Given the description of an element on the screen output the (x, y) to click on. 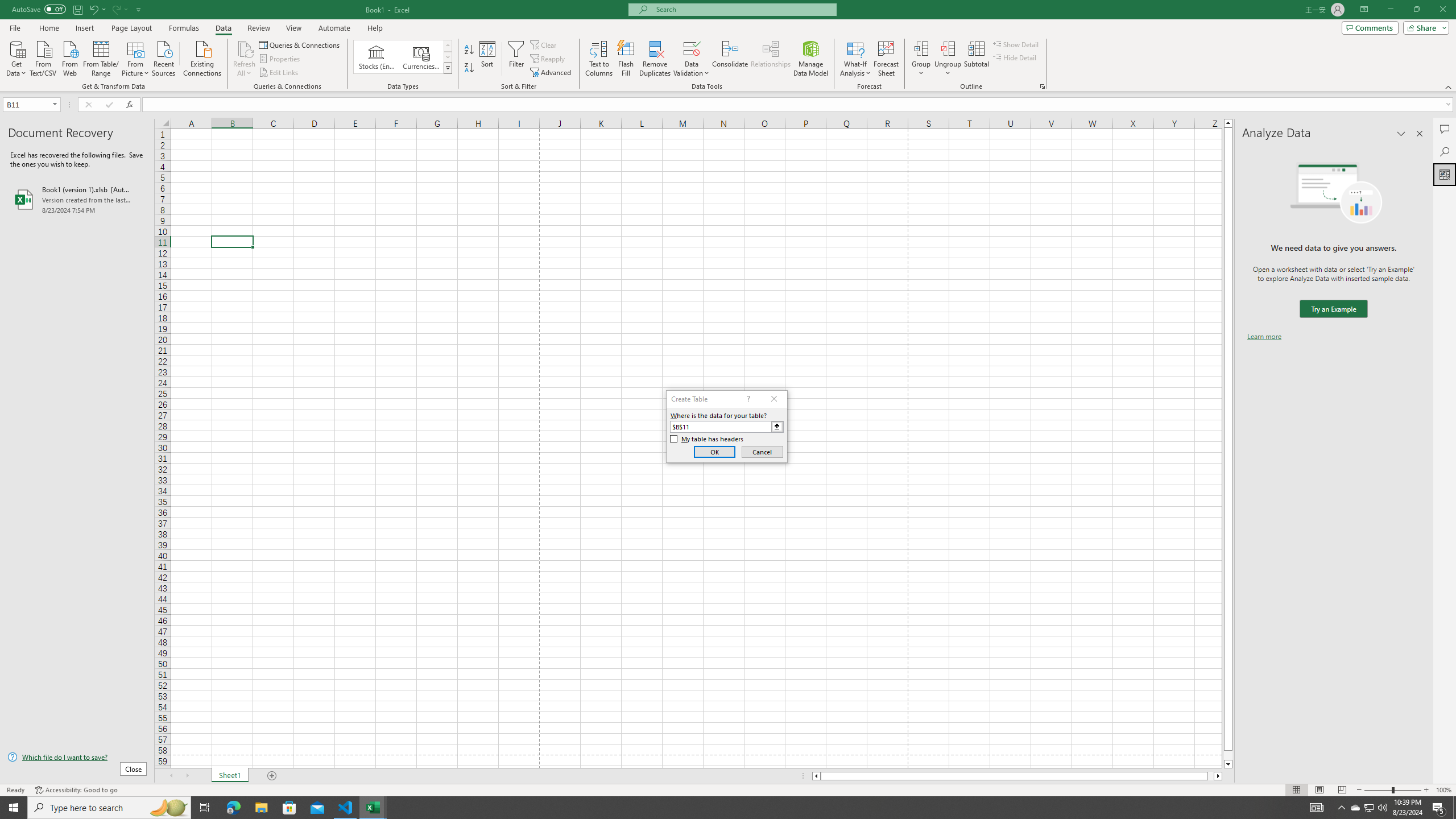
Consolidate... (729, 58)
